Given the description of an element on the screen output the (x, y) to click on. 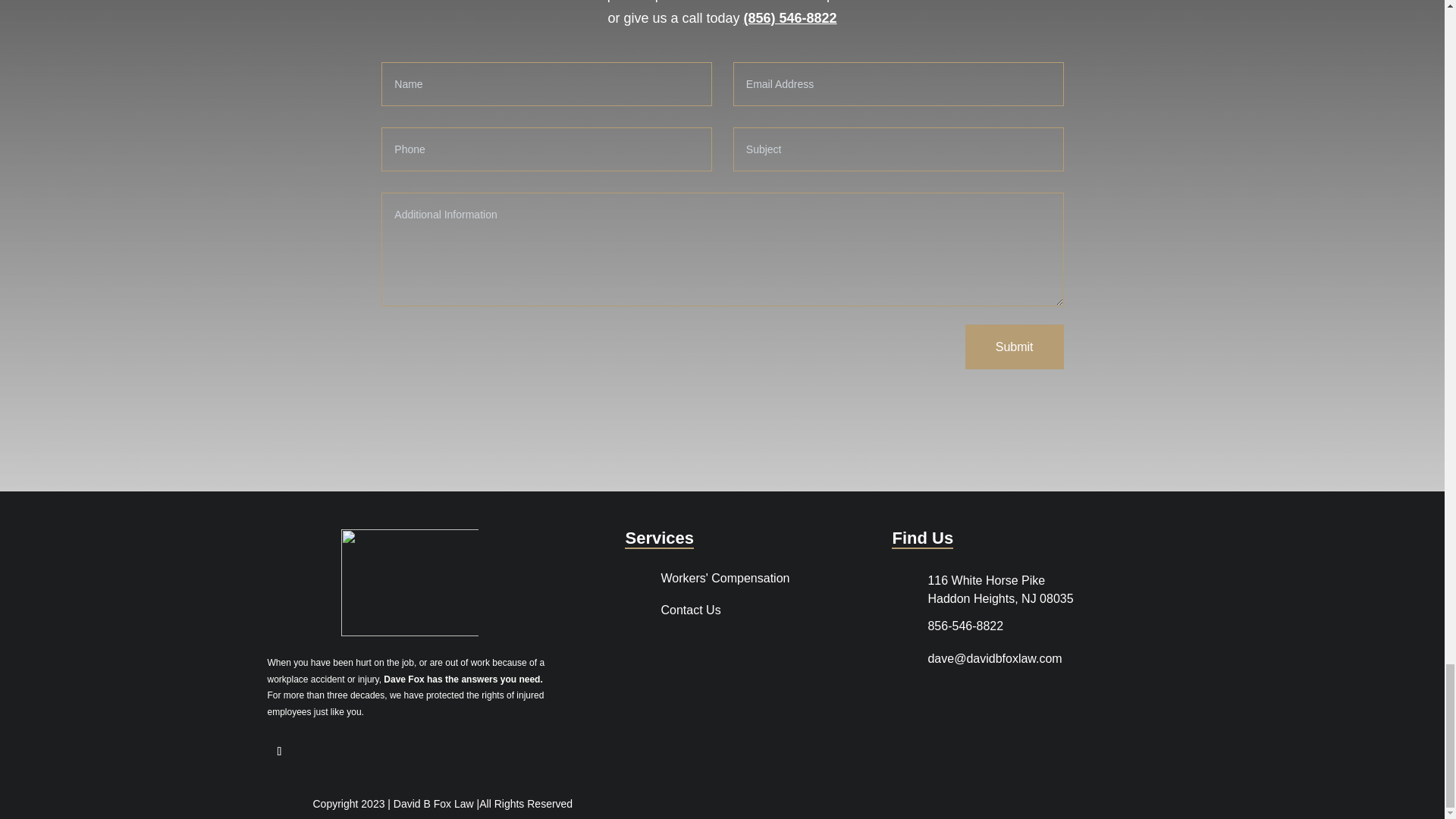
856-546-8822 (965, 625)
david fox (409, 582)
Contact Us (690, 609)
Follow on Facebook (278, 751)
Workers' Compensation (725, 577)
Submit (1014, 346)
